Given the description of an element on the screen output the (x, y) to click on. 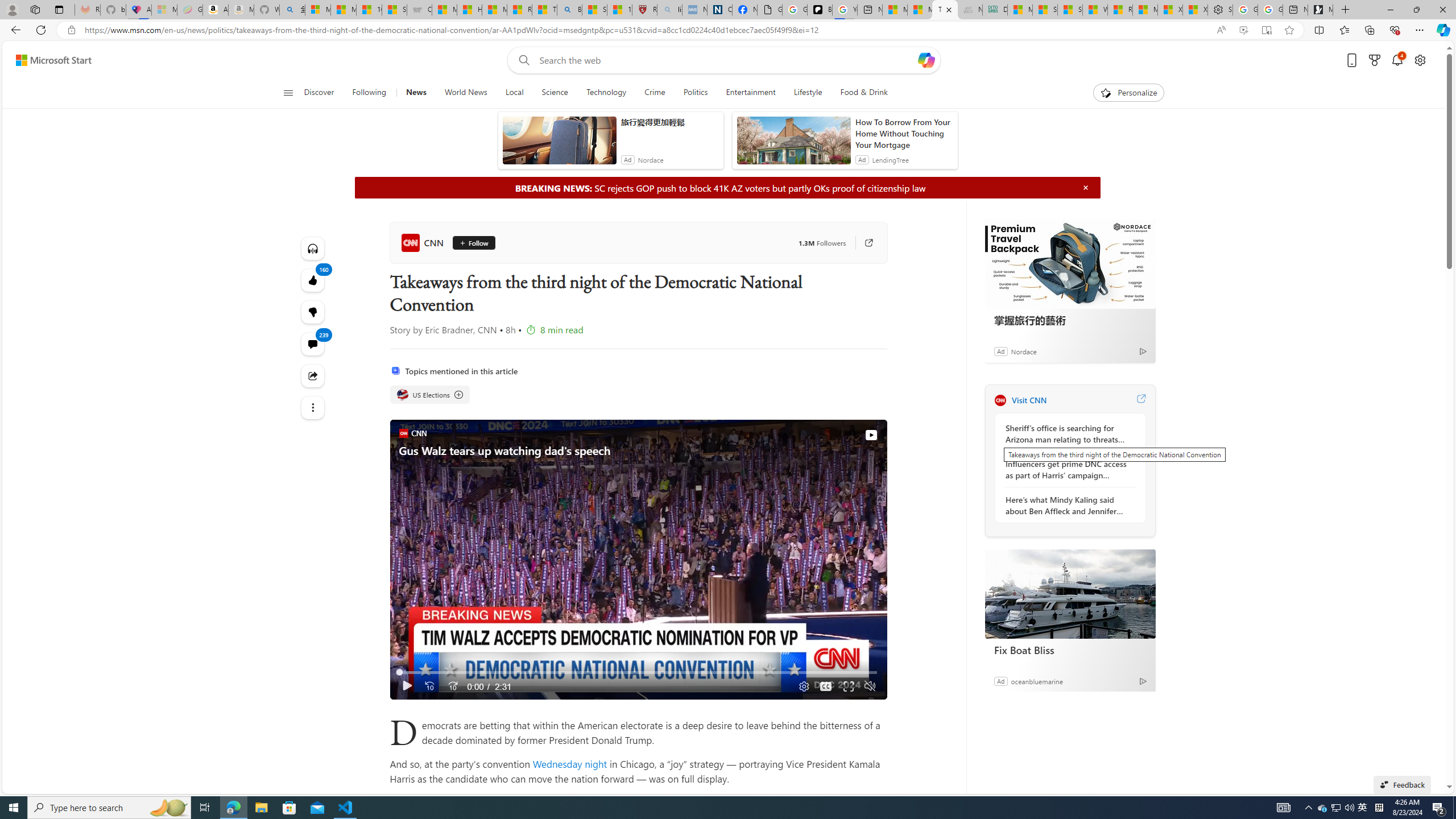
Food & Drink (864, 92)
Technology (606, 92)
LendingTree (890, 159)
Nordace (1023, 351)
12 Popular Science Lies that Must be Corrected (619, 9)
Notifications (1397, 60)
Quality Settings (801, 686)
Go to publisher's site (863, 242)
